Given the description of an element on the screen output the (x, y) to click on. 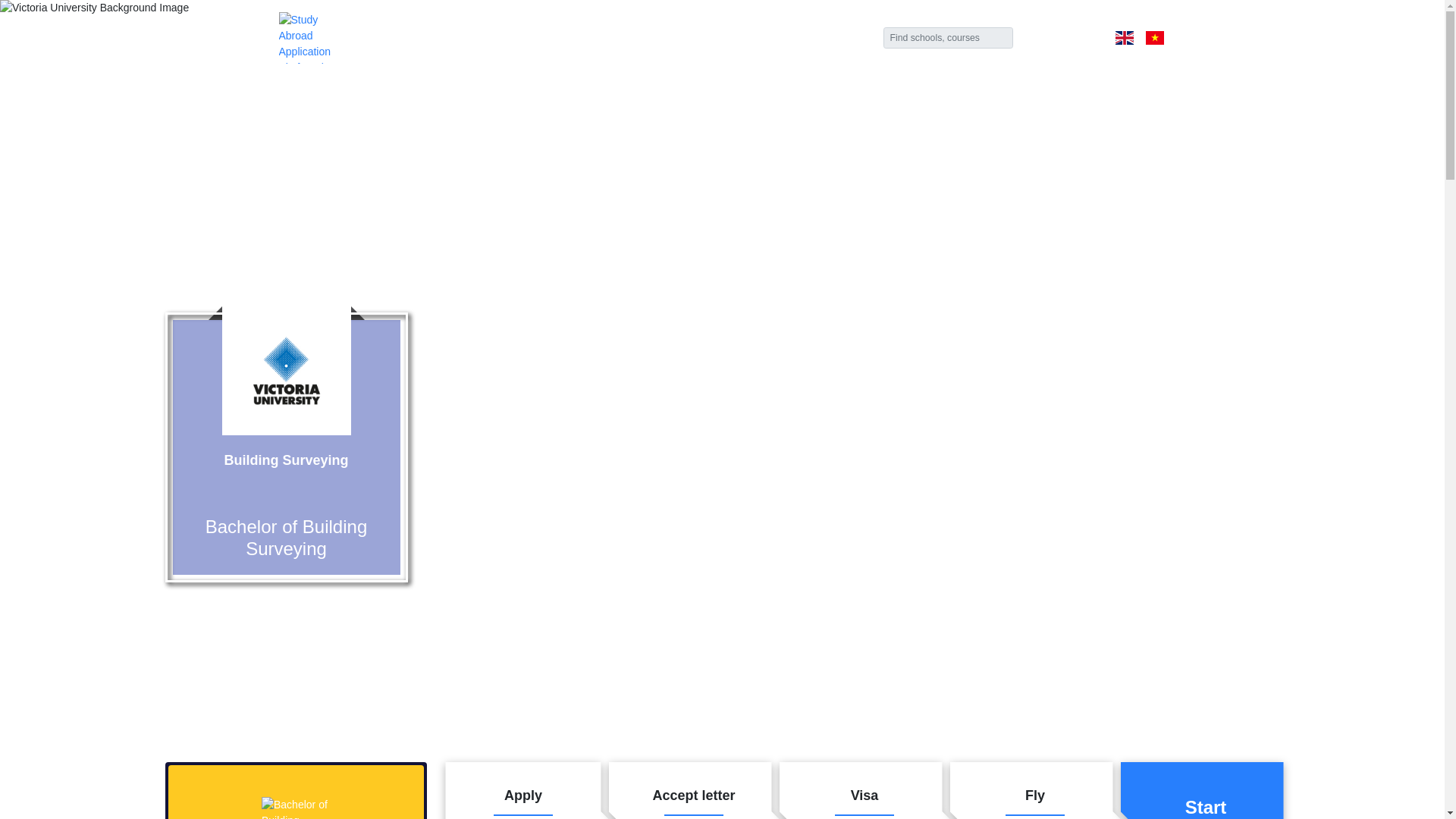
For Students (1206, 790)
For Agents (455, 37)
Login (674, 37)
For Schools (840, 37)
Victoria University (568, 37)
For Schools (285, 370)
For Students (568, 37)
For Agents (455, 37)
Blog (674, 37)
